Given the description of an element on the screen output the (x, y) to click on. 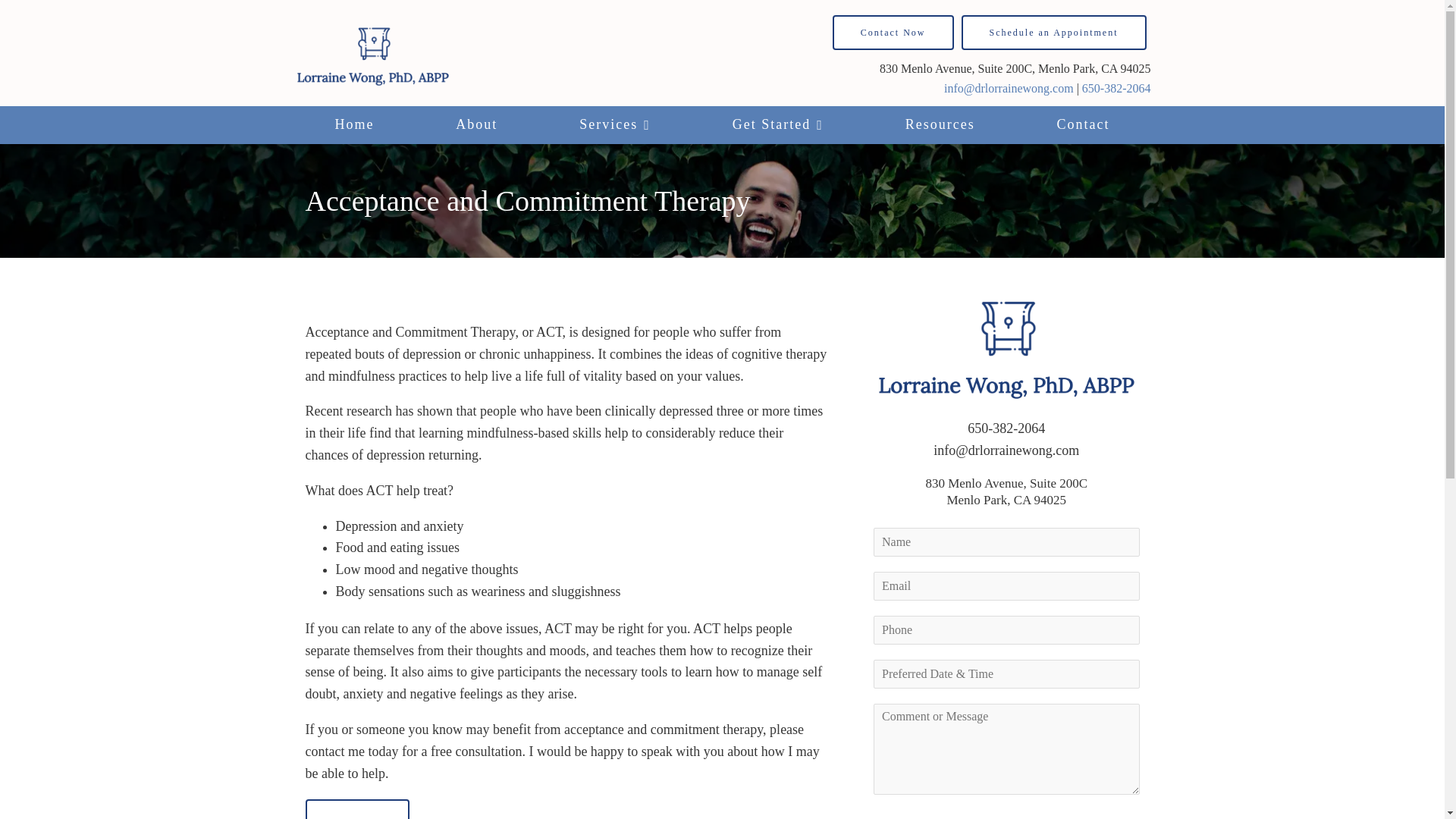
About (476, 125)
Contact Now (892, 32)
Services (614, 125)
Contact (1083, 125)
650-382-2064 (1116, 88)
Resources (940, 125)
Home (354, 125)
Get Started (777, 125)
Schedule an Appointment (1053, 32)
